Given the description of an element on the screen output the (x, y) to click on. 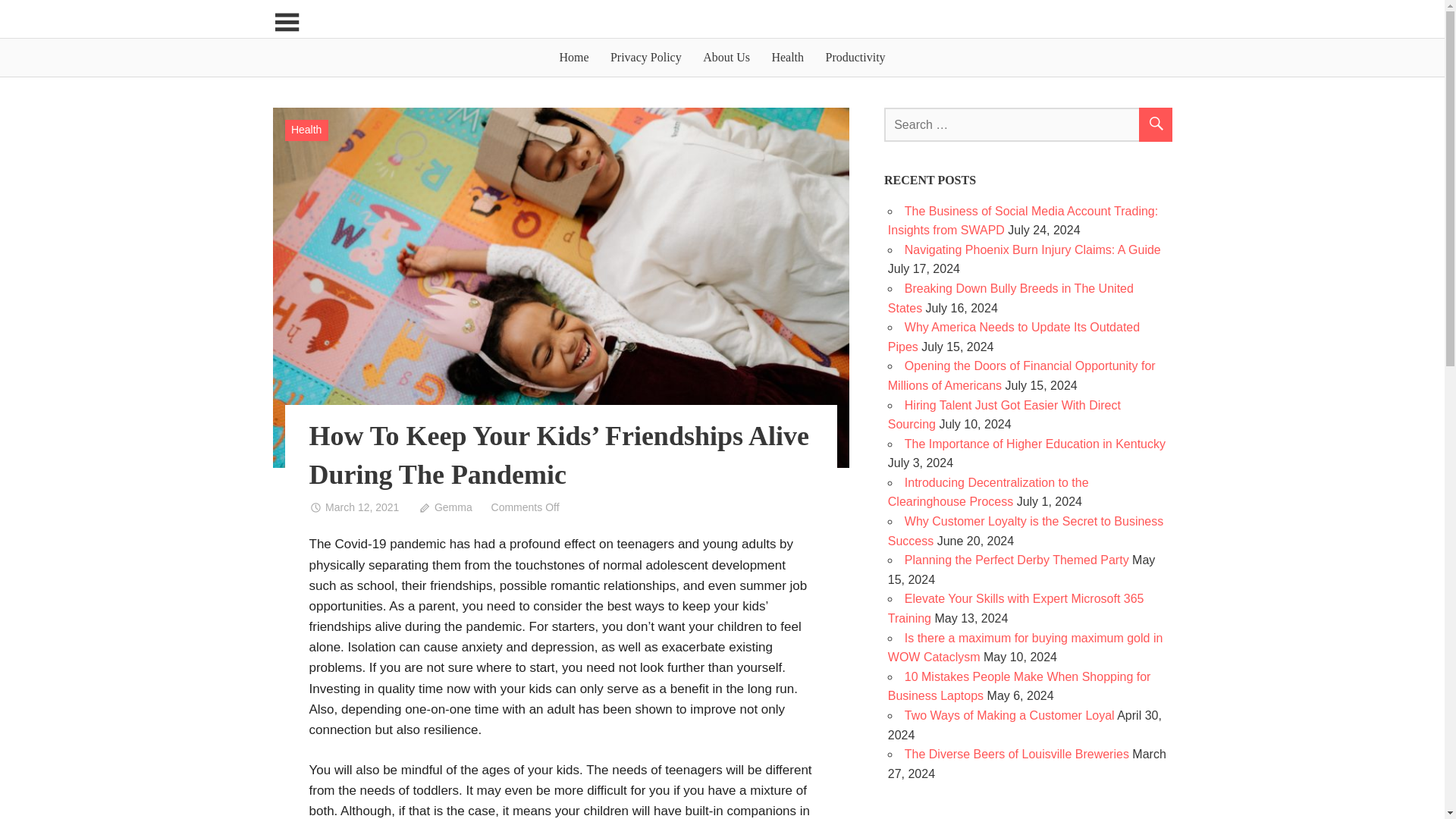
The Importance of Higher Education in Kentucky (1035, 443)
10 Mistakes People Make When Shopping for Business Laptops (1019, 686)
Hiring Talent Just Got Easier With Direct Sourcing (1004, 414)
March 12, 2021 (353, 507)
Two Ways of Making a Customer Loyal (1009, 715)
View all posts by Gemma (444, 507)
Introducing Decentralization to the Clearinghouse Process (988, 491)
Breaking Down Bully Breeds in The United States (1011, 297)
Health (786, 57)
10:37 am (353, 507)
Navigating Phoenix Burn Injury Claims: A Guide (1032, 249)
About Us (726, 57)
Why America Needs to Update Its Outdated Pipes (1014, 336)
